Given the description of an element on the screen output the (x, y) to click on. 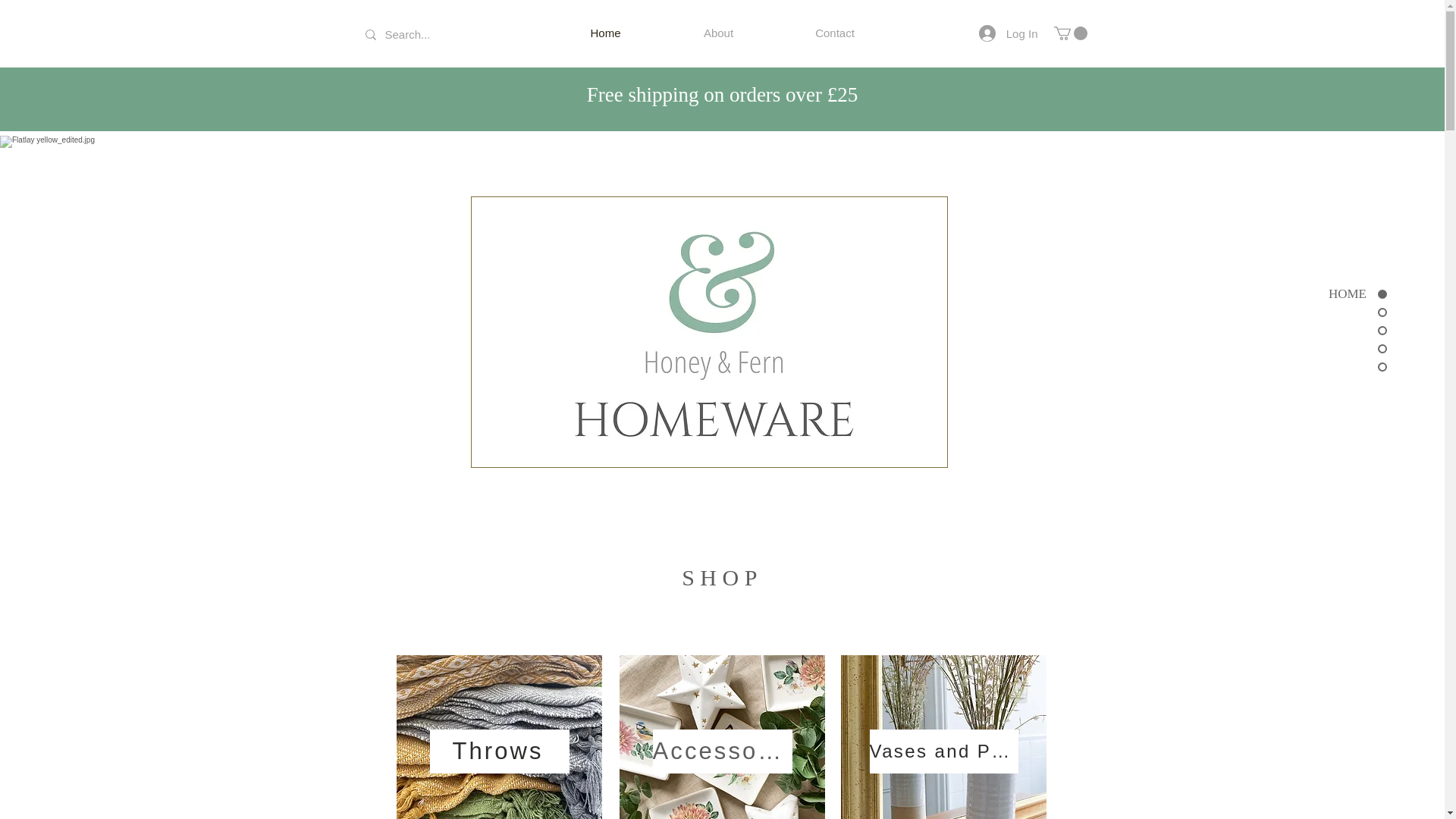
Home (605, 33)
Contact (834, 33)
Log In (1008, 32)
HOME (1334, 294)
Throws (499, 751)
Accessories (722, 751)
Vases and Planters (943, 751)
About (718, 33)
